Given the description of an element on the screen output the (x, y) to click on. 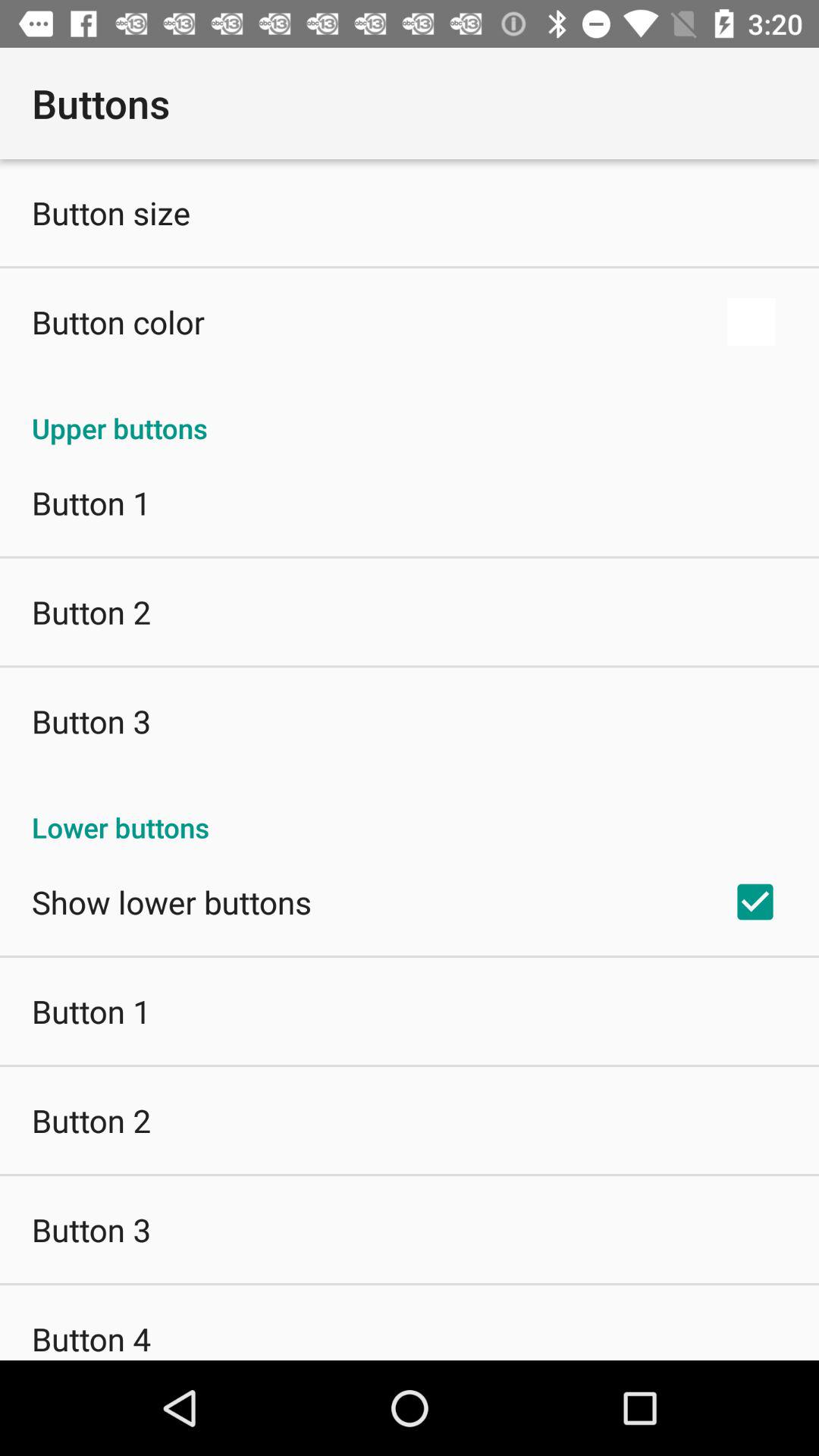
tap item next to button color item (751, 321)
